Given the description of an element on the screen output the (x, y) to click on. 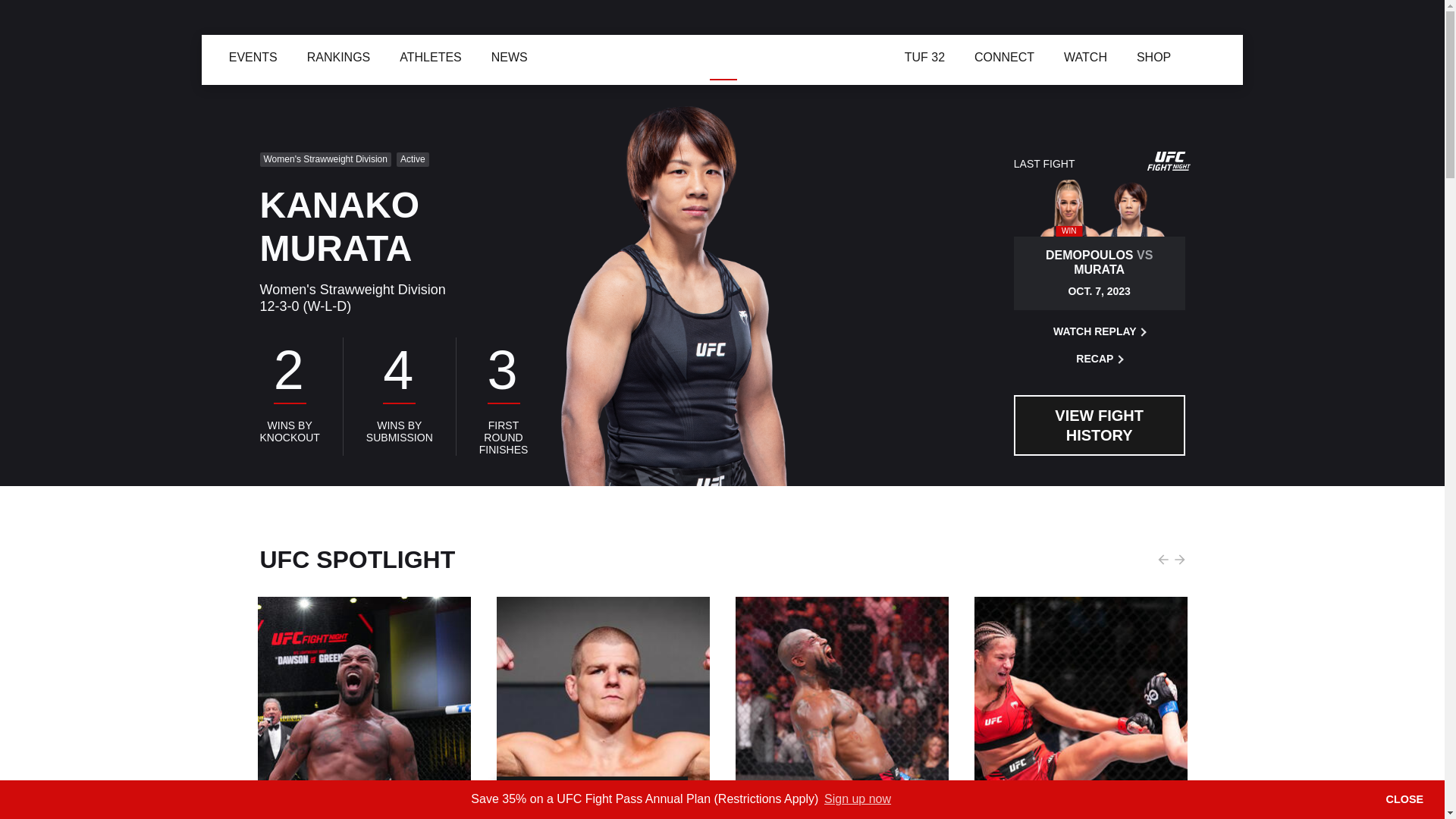
License UFC Video Content (913, 688)
WATCH (791, 53)
Watch The Ultimate Fighter (864, 56)
SHOP (850, 54)
Skip to main content (9, 9)
Sign up now (857, 798)
